Given the description of an element on the screen output the (x, y) to click on. 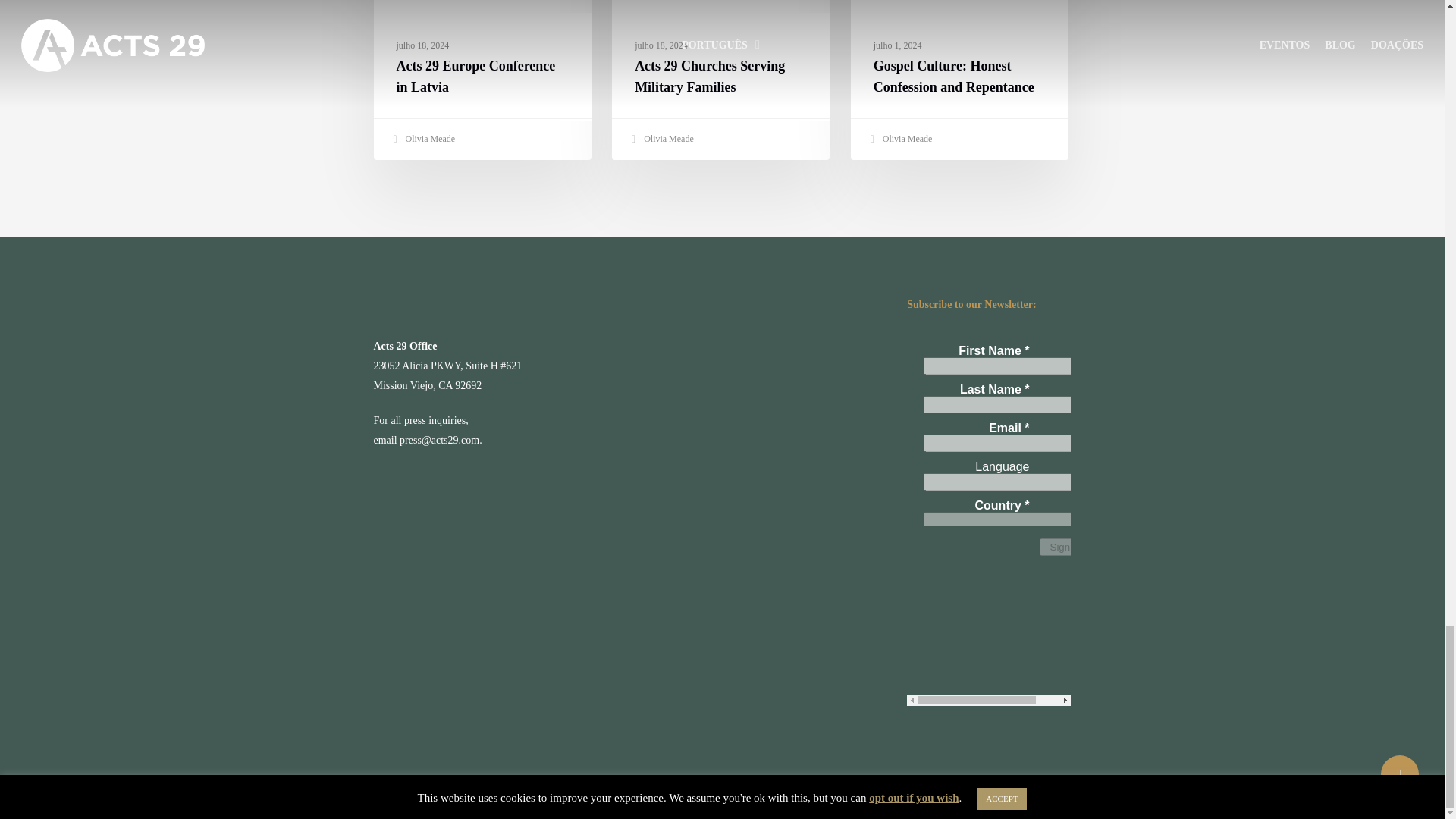
Olivia Meade (899, 139)
Olivia Meade (422, 139)
Olivia Meade (660, 139)
